Given the description of an element on the screen output the (x, y) to click on. 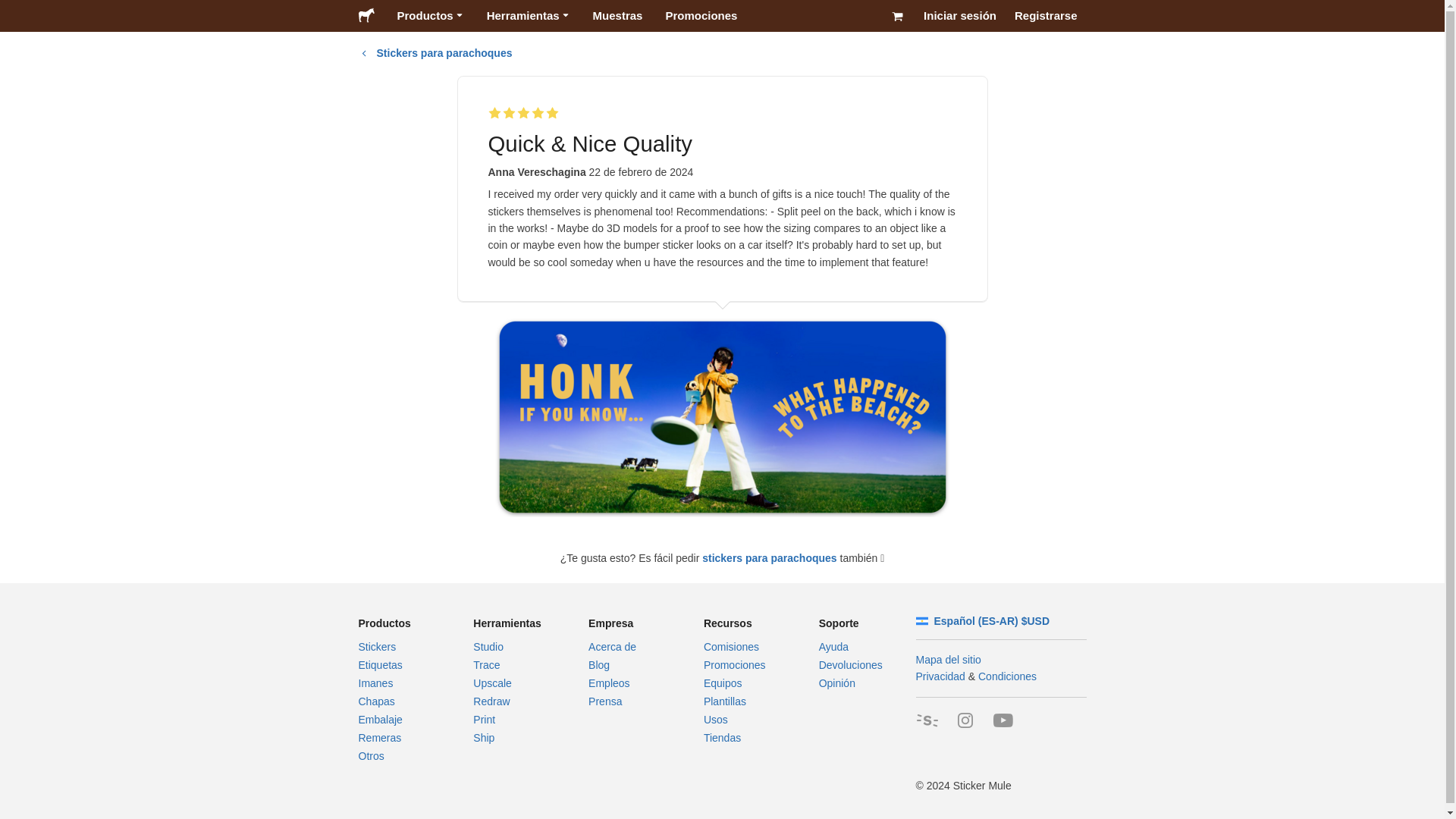
Promociones (700, 15)
Productos (429, 15)
Muestras (616, 15)
Carrito (897, 15)
Herramientas (528, 15)
